Given the description of an element on the screen output the (x, y) to click on. 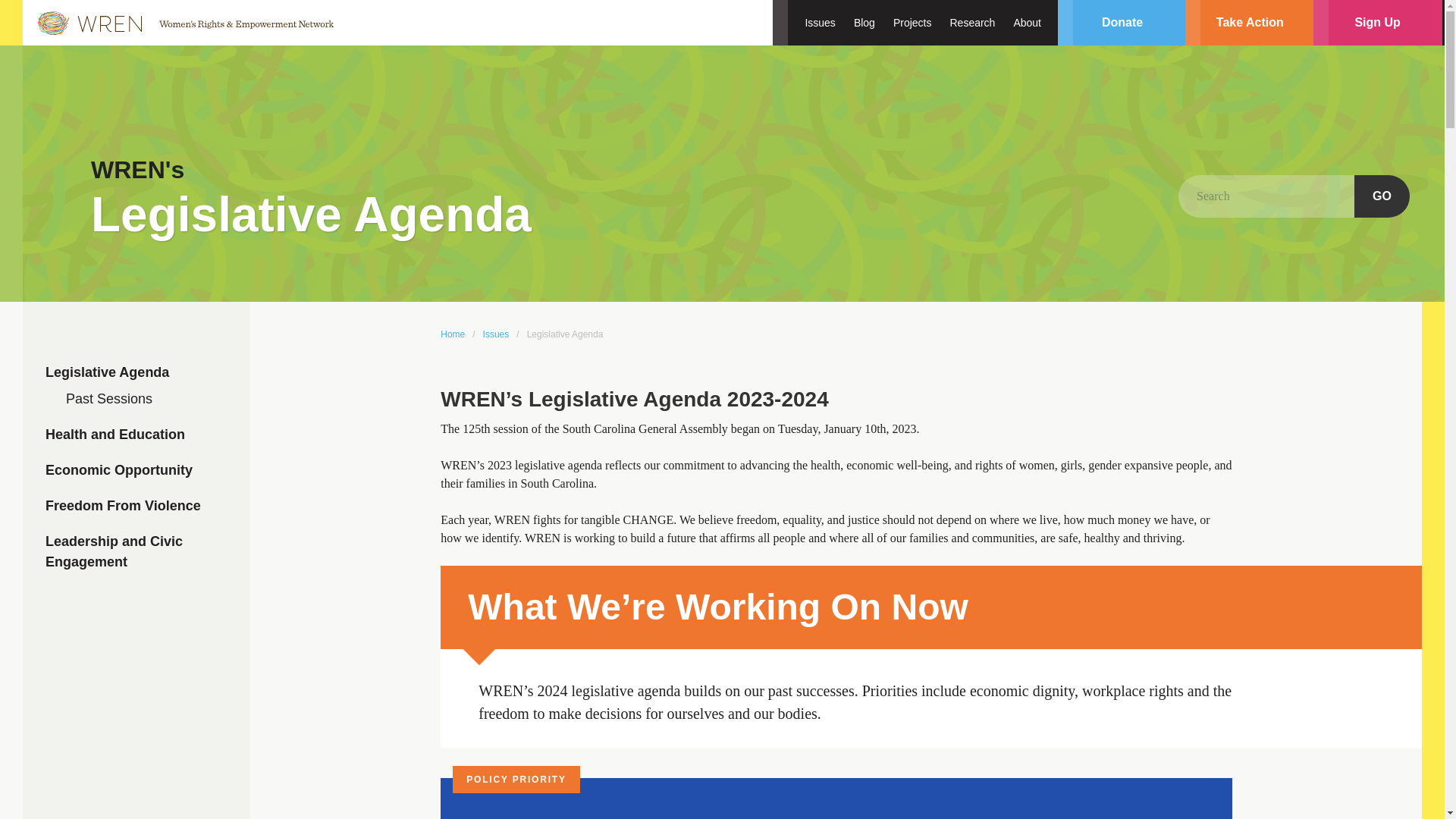
Research (972, 22)
GO (1381, 196)
Issues (815, 22)
About (1031, 22)
Sign Up (1377, 22)
Women's Rights Empowerment Network (181, 22)
Issues (496, 334)
Projects (911, 22)
Home (452, 334)
Take Action (1249, 22)
Blog (863, 22)
Go to Issues. (496, 334)
Go to Women's Rights and Empowerment Network. (452, 334)
Donate (1122, 22)
